Given the description of an element on the screen output the (x, y) to click on. 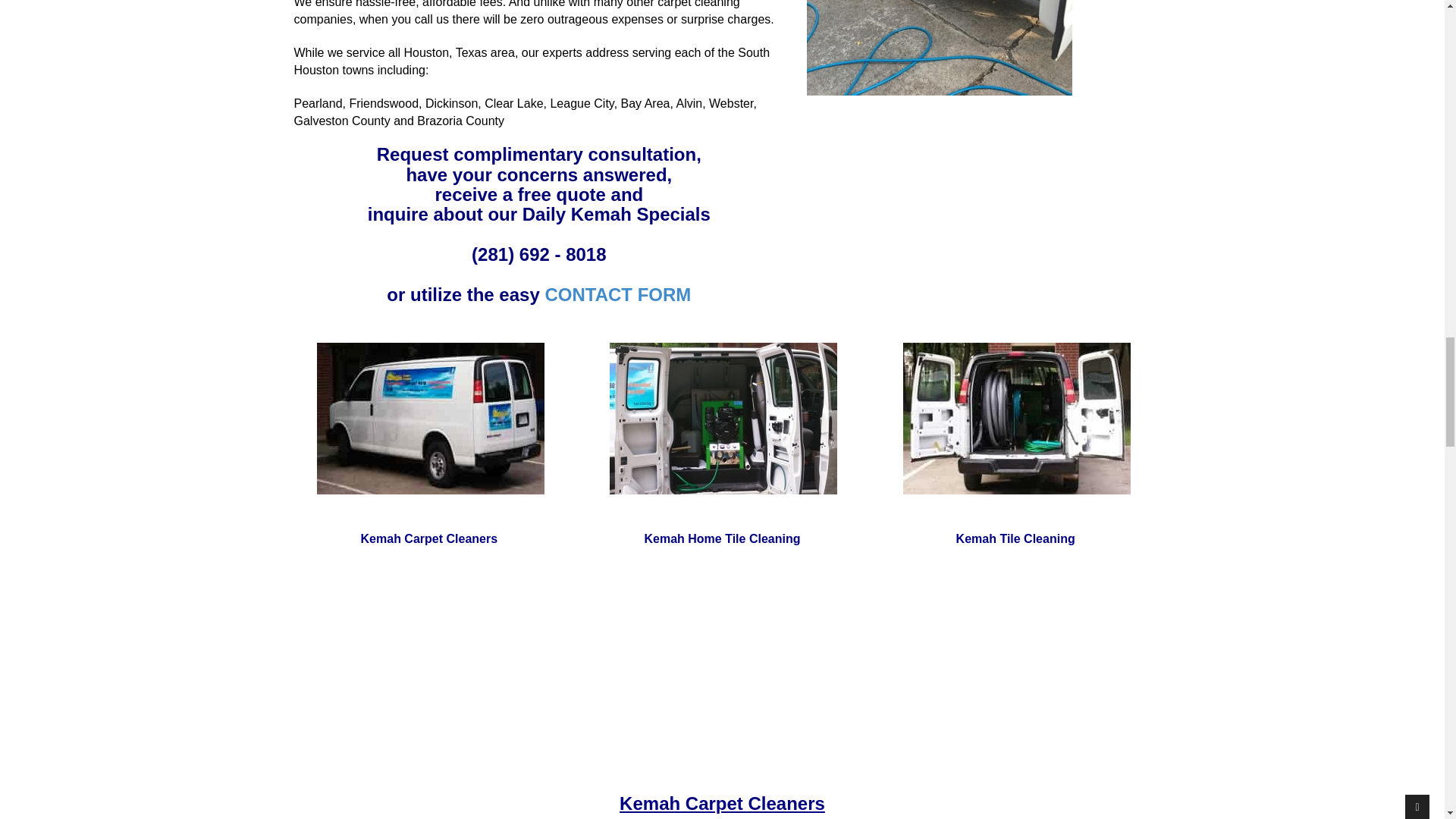
CONTACT FORM (617, 294)
